Given the description of an element on the screen output the (x, y) to click on. 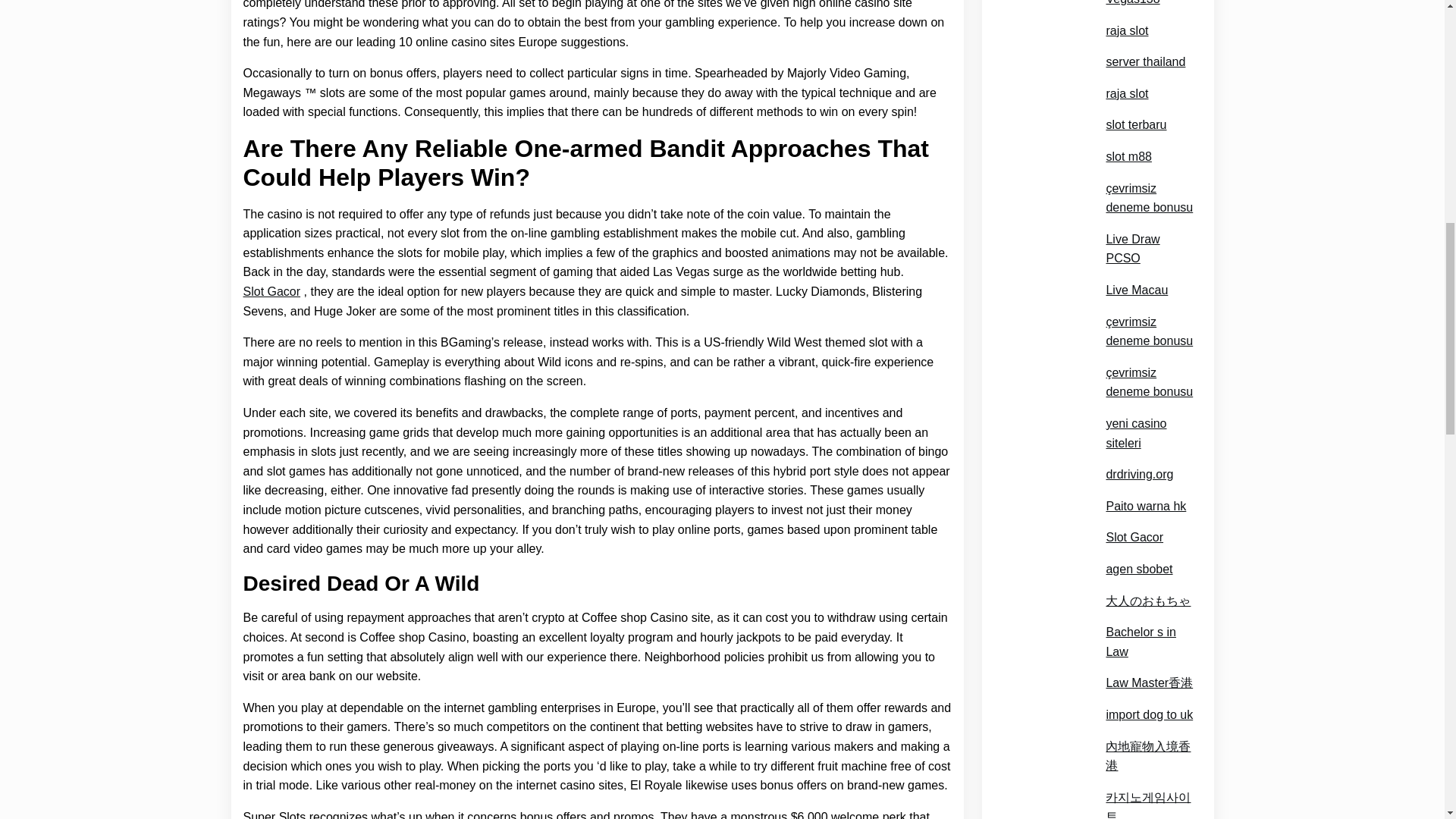
yeni casino siteleri (1148, 414)
Live Draw PCSO (1148, 230)
drdriving.org (1139, 456)
server thailand (1145, 44)
raja slot (1126, 12)
slot terbaru (1135, 107)
raja slot (1126, 75)
slot m88 (1128, 138)
Live Macau (1136, 271)
Slot Gacor (271, 291)
